Given the description of an element on the screen output the (x, y) to click on. 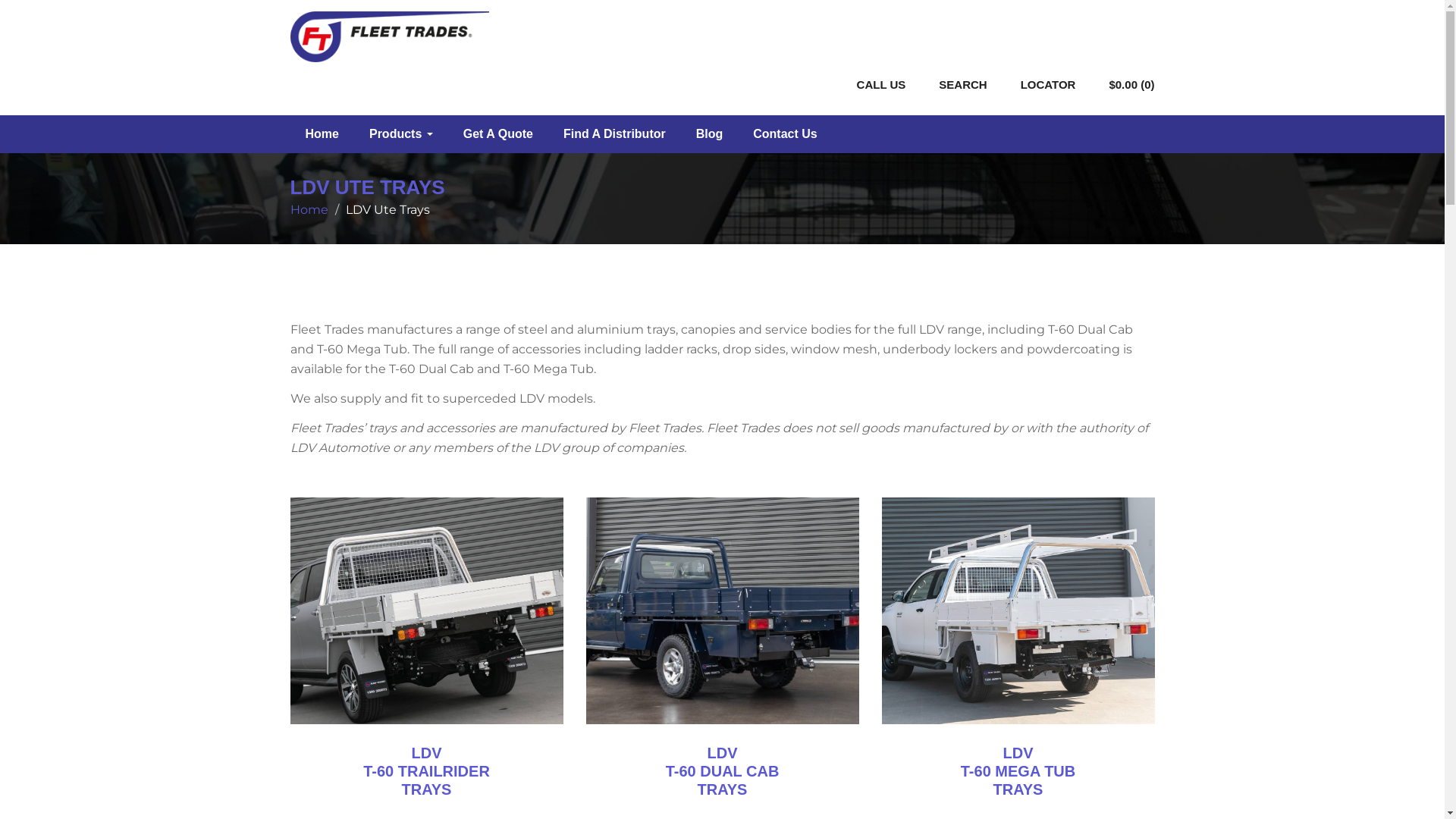
Home Element type: text (321, 134)
LDV
T-60 MEGA TUB
TRAYS Element type: text (1018, 770)
Find A Distributor Element type: text (614, 134)
Get A Quote Element type: text (498, 134)
Home Element type: text (308, 209)
Products Element type: text (401, 134)
$0.00 (0) Element type: text (1131, 84)
LDV
T-60 TRAILRIDER
TRAYS Element type: text (426, 770)
Contact Us Element type: text (784, 134)
Blog Element type: text (709, 134)
LOCATOR Element type: text (1048, 54)
CALL US Element type: text (881, 54)
SEARCH Element type: text (962, 54)
LDV
T-60 DUAL CAB
TRAYS Element type: text (722, 770)
